Given the description of an element on the screen output the (x, y) to click on. 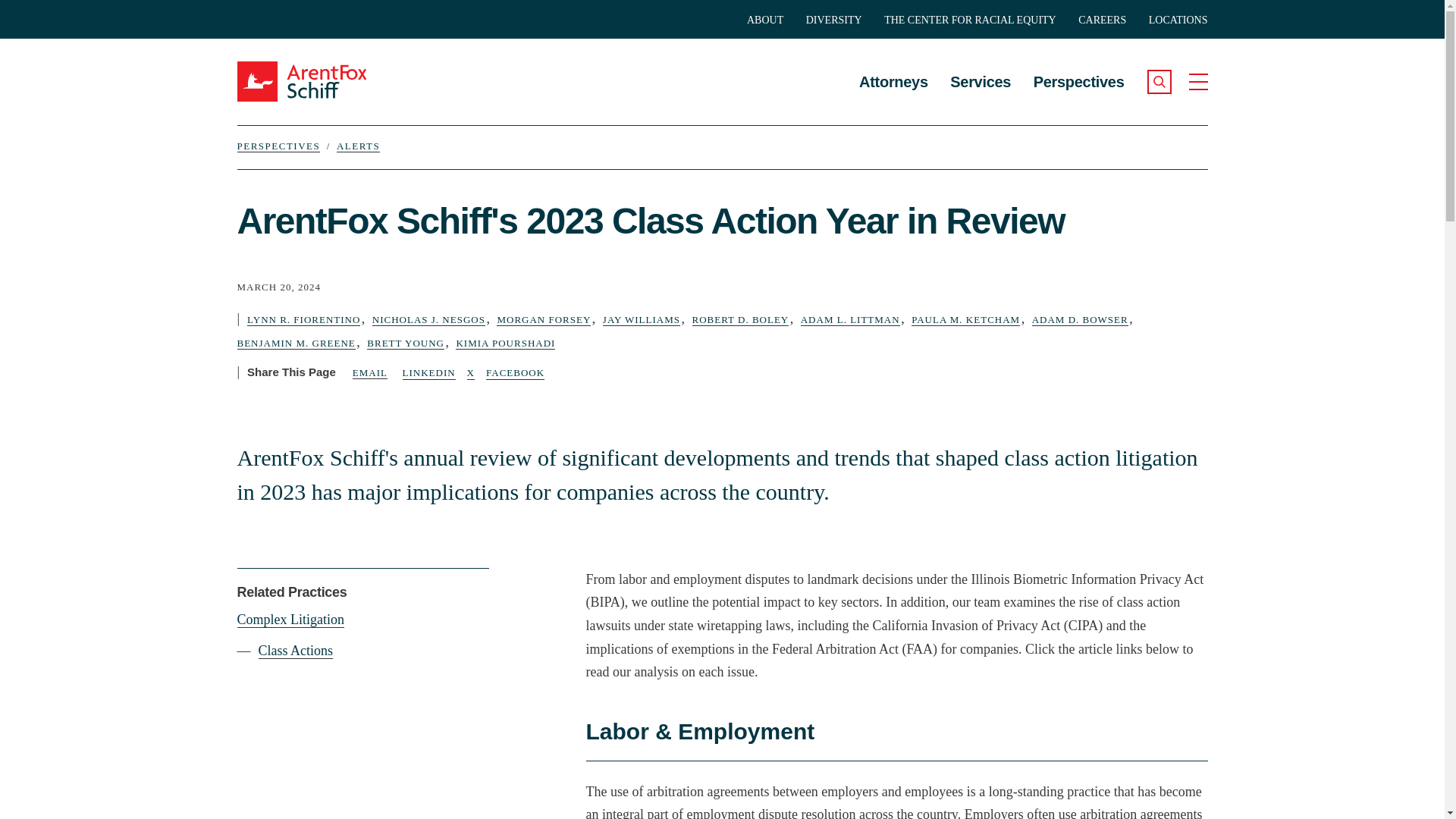
Search the Site (1158, 81)
Home (319, 81)
CAREERS (1101, 20)
ABOUT (764, 20)
THE CENTER FOR RACIAL EQUITY (970, 20)
Perspectives (1078, 70)
ArentFox Schiff (319, 81)
LOCATIONS (1178, 20)
DIVERSITY (833, 20)
Attorneys (893, 70)
Services (980, 70)
